Given the description of an element on the screen output the (x, y) to click on. 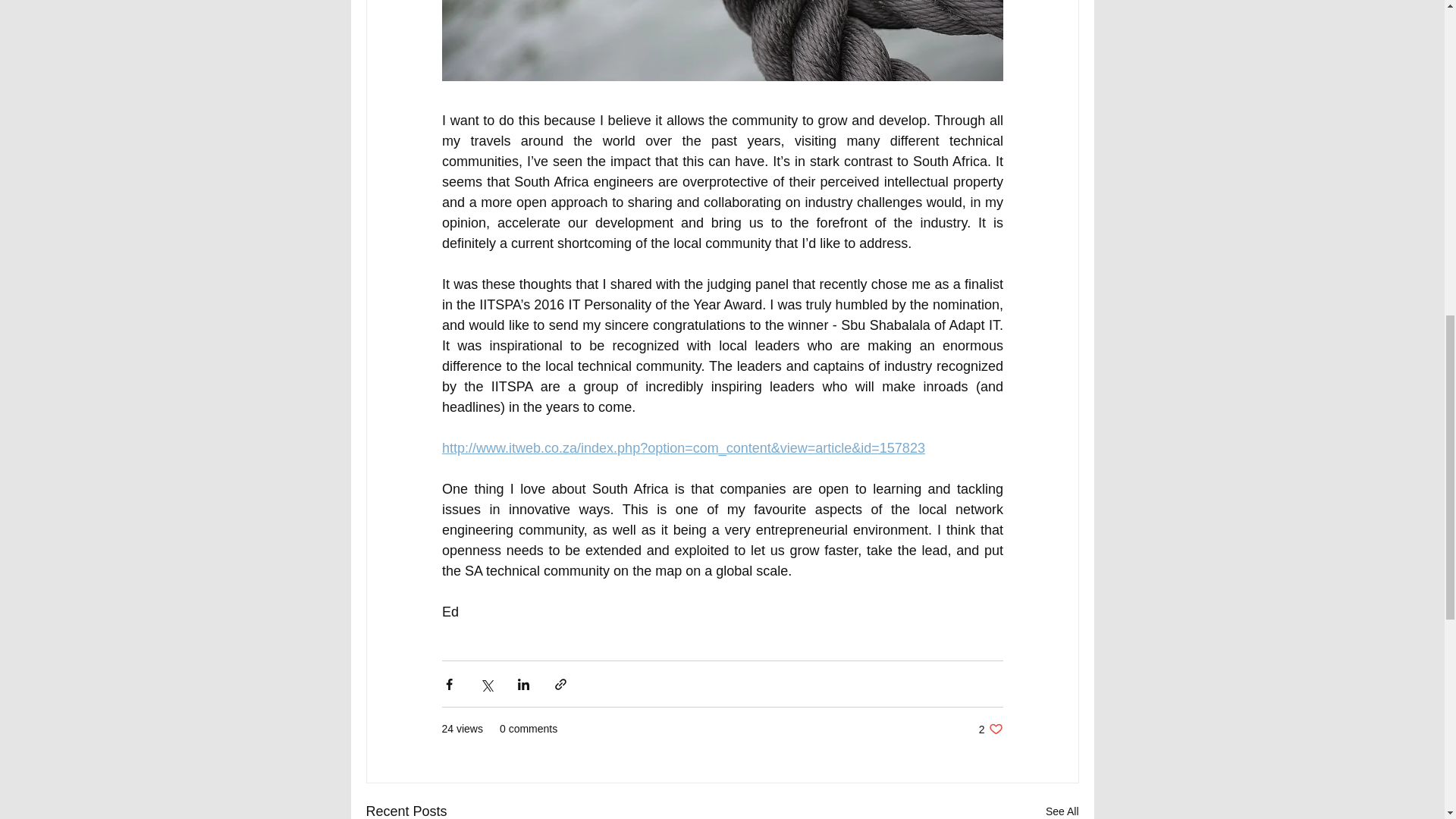
See All (1061, 809)
